Given the description of an element on the screen output the (x, y) to click on. 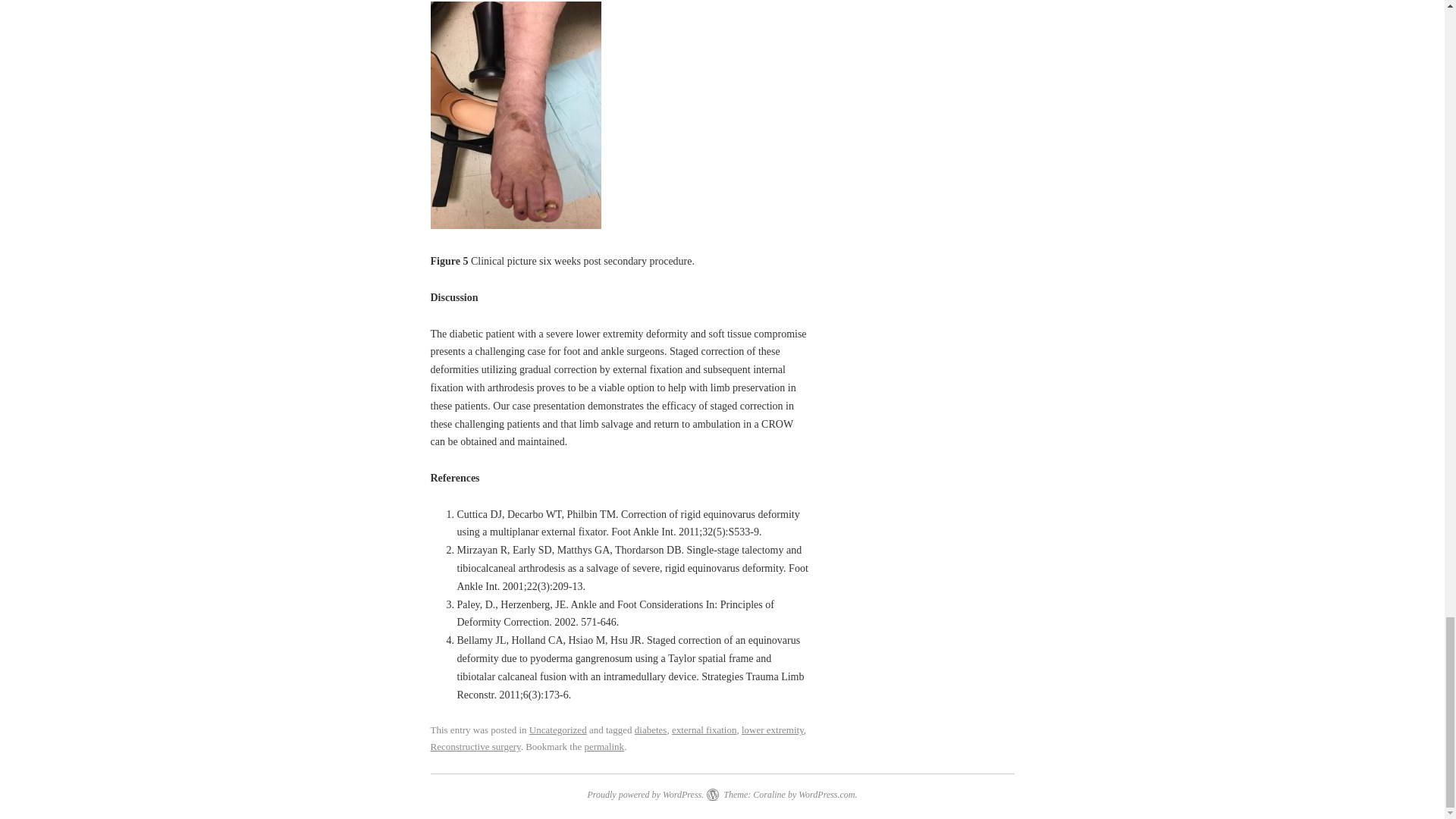
diabetes (650, 729)
Uncategorized (557, 729)
Reconstructive surgery (475, 746)
lower extremity (772, 729)
permalink (603, 746)
A Semantic Personal Publishing Platform (644, 794)
external fixation (703, 729)
